Given the description of an element on the screen output the (x, y) to click on. 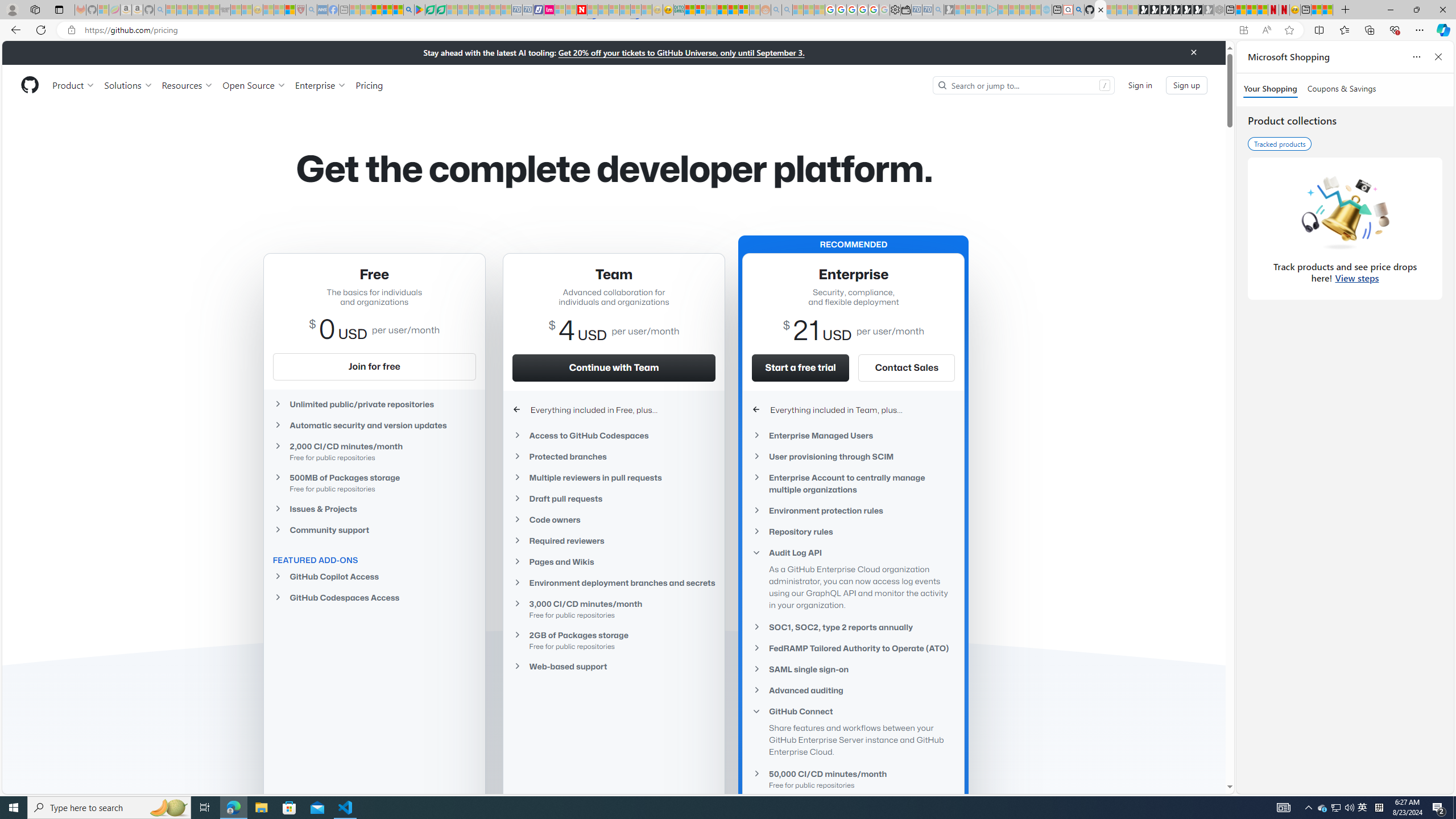
Enterprise Managed Users (853, 435)
Unlimited public/private repositories (374, 404)
Community support (374, 529)
Everything included in Team, plus... (853, 409)
GitHub Copilot Access (374, 576)
Community support (374, 529)
